Given the description of an element on the screen output the (x, y) to click on. 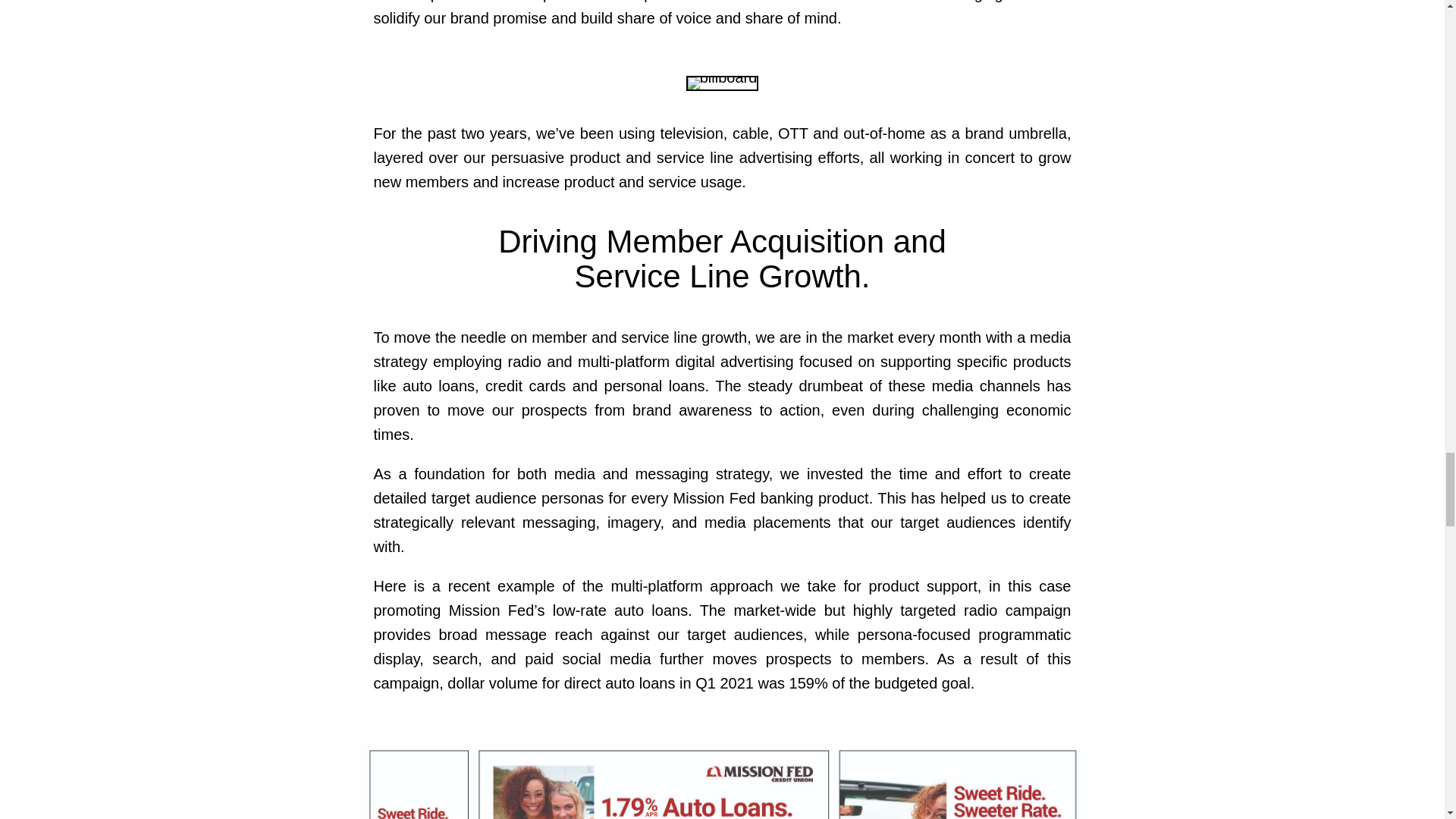
billboard (721, 83)
